Given the description of an element on the screen output the (x, y) to click on. 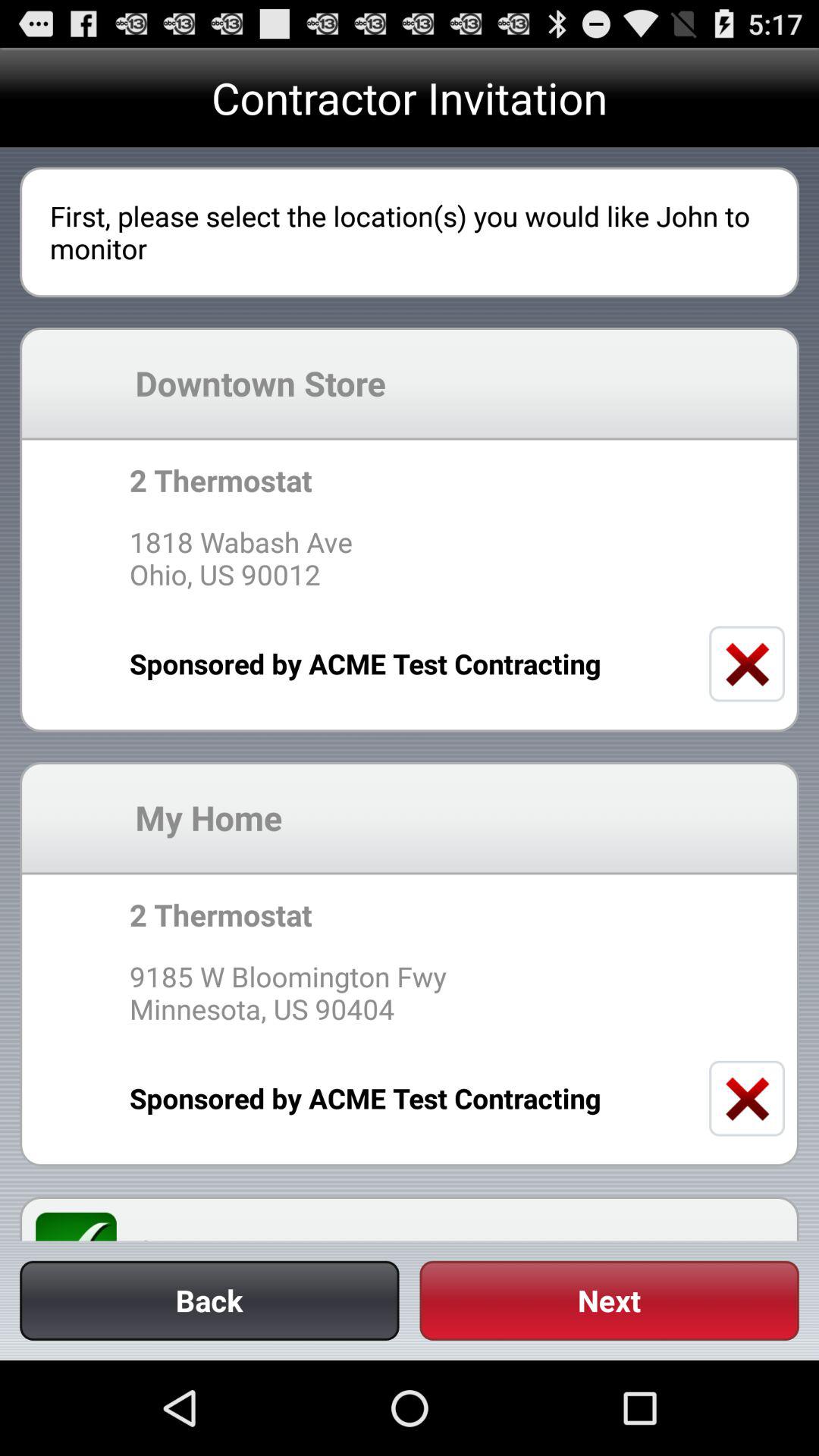
scroll until the first please select (409, 232)
